Given the description of an element on the screen output the (x, y) to click on. 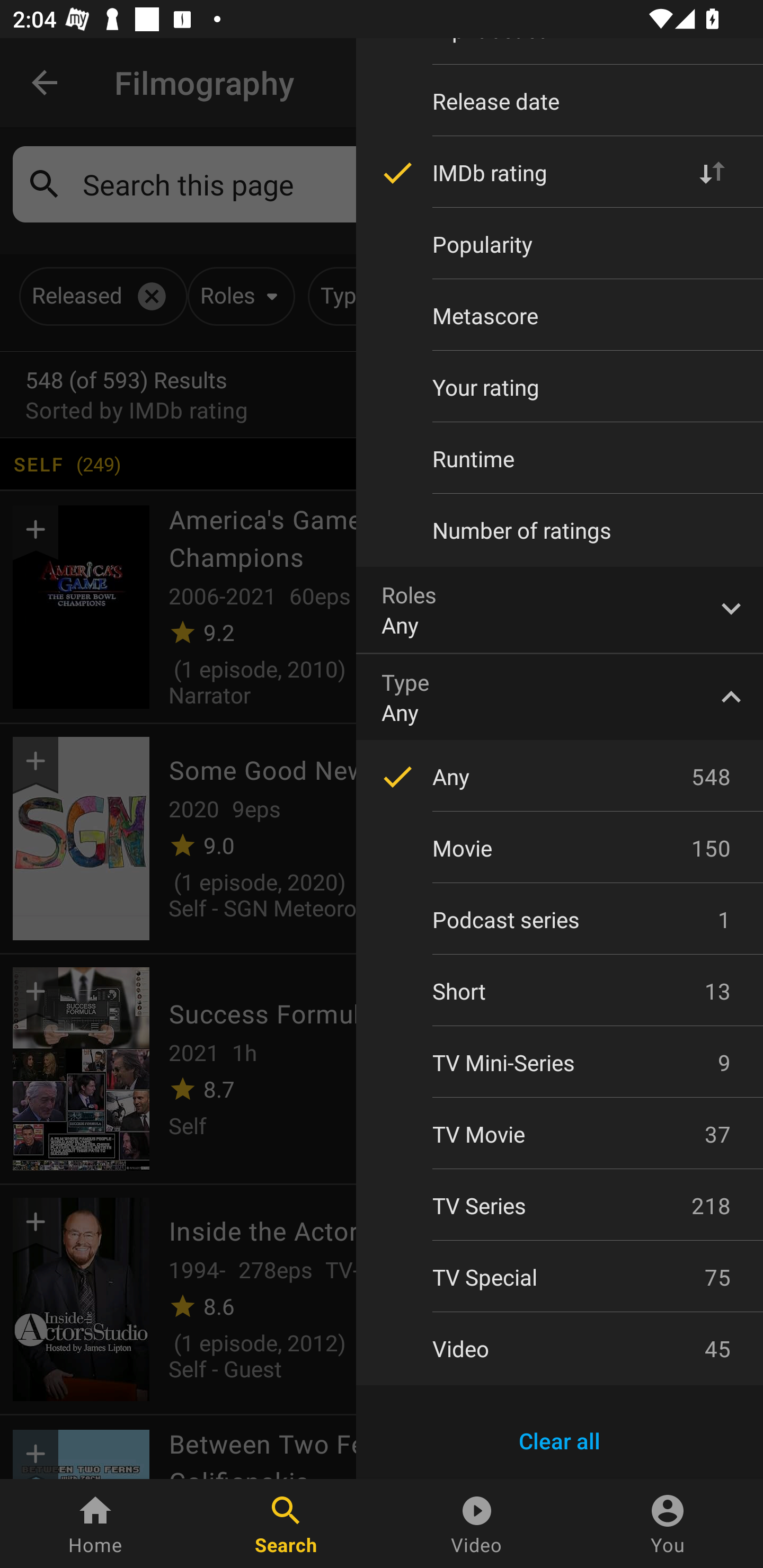
Release date (559, 100)
IMDb rating (559, 171)
Popularity (559, 243)
Metascore (559, 315)
Your rating (559, 386)
Runtime (559, 458)
Number of ratings (559, 529)
Roles Any (559, 609)
Type Any (559, 696)
Any 548 (559, 776)
Movie 150 (559, 847)
Podcast series 1 (559, 919)
Short 13 (559, 990)
TV Mini-Series 9 (559, 1062)
TV Movie 37 (559, 1134)
TV Series 218 (559, 1205)
TV Special 75 (559, 1276)
Video 45 (559, 1347)
Clear all (559, 1440)
Home (95, 1523)
Video (476, 1523)
You (667, 1523)
